Given the description of an element on the screen output the (x, y) to click on. 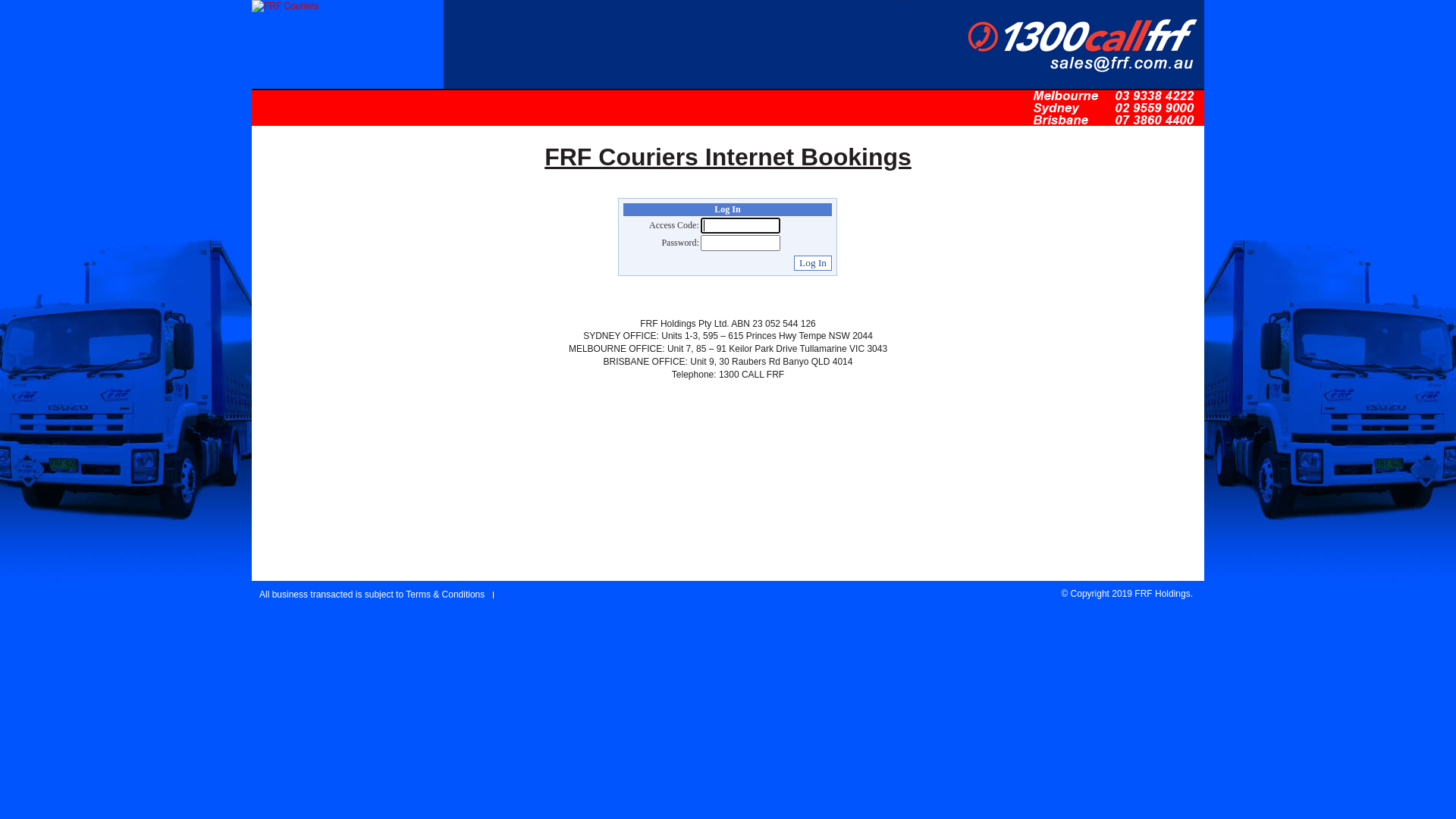
All business transacted is subject to Terms & Conditions Element type: text (372, 589)
Log In Element type: text (812, 262)
